Given the description of an element on the screen output the (x, y) to click on. 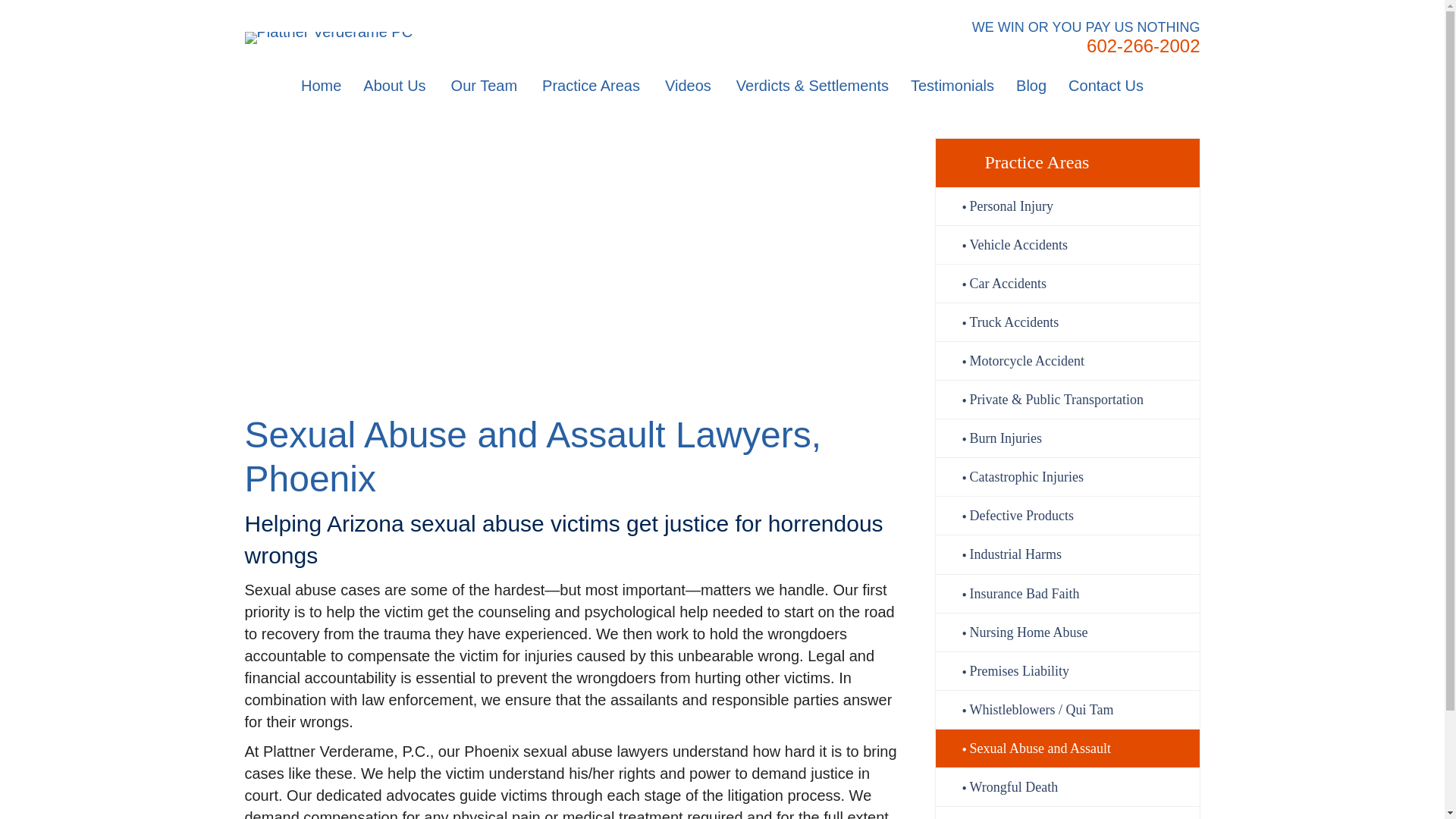
Our Team (486, 85)
Videos (689, 85)
Plattner Verderame PC (328, 37)
602-266-2002 (1142, 46)
Practice Areas (592, 85)
About Us (395, 85)
Home (320, 85)
